Given the description of an element on the screen output the (x, y) to click on. 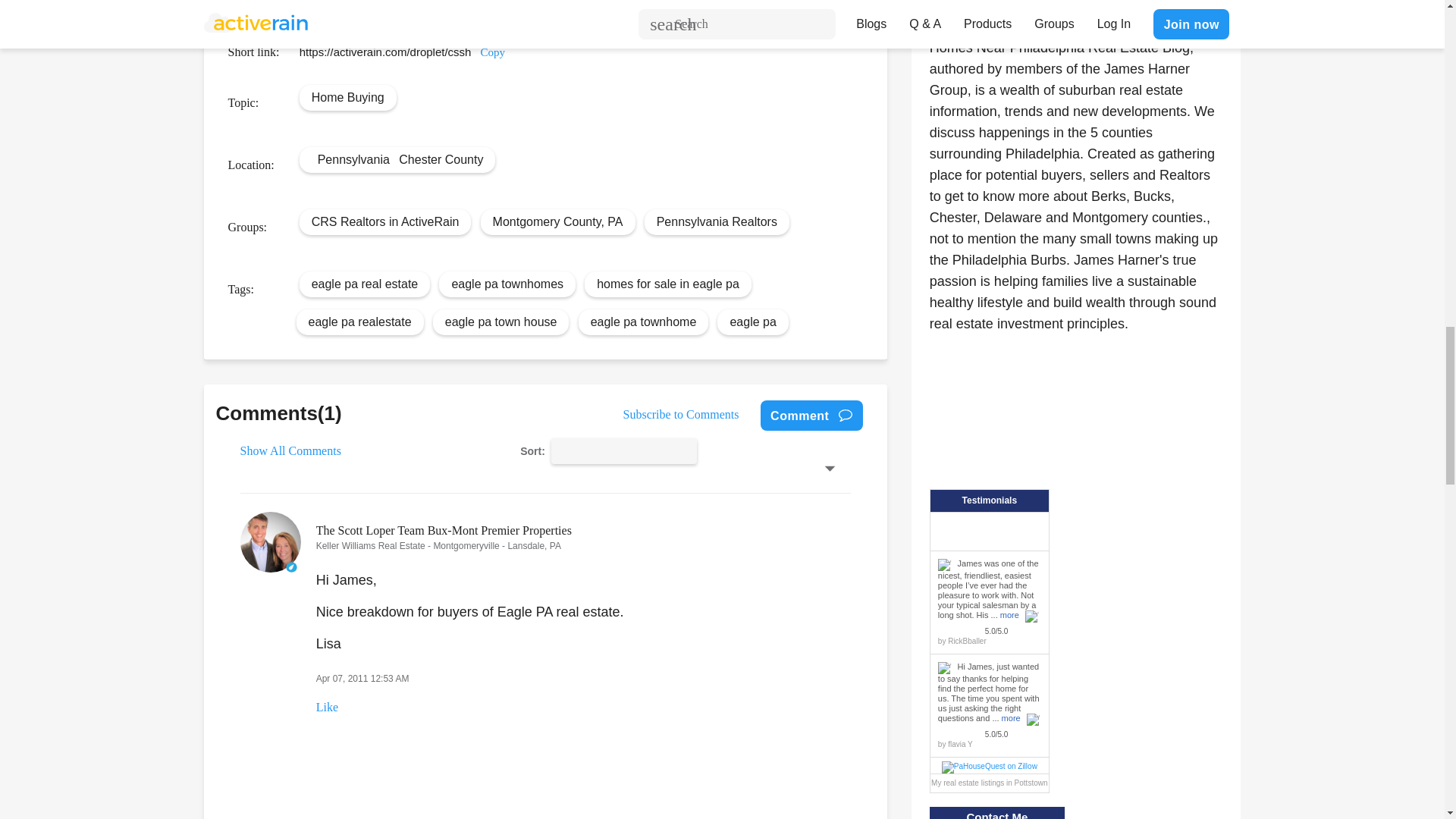
Chester County (440, 159)
Share (791, 0)
Facebook (678, 0)
Home Buying (347, 97)
This entry hasn't been re-blogged (582, 3)
Email (769, 0)
Pennsylvania (353, 159)
LinkedIn (724, 0)
X (701, 0)
Tumblr (746, 0)
Copy (492, 51)
repeat 0 (582, 3)
